Given the description of an element on the screen output the (x, y) to click on. 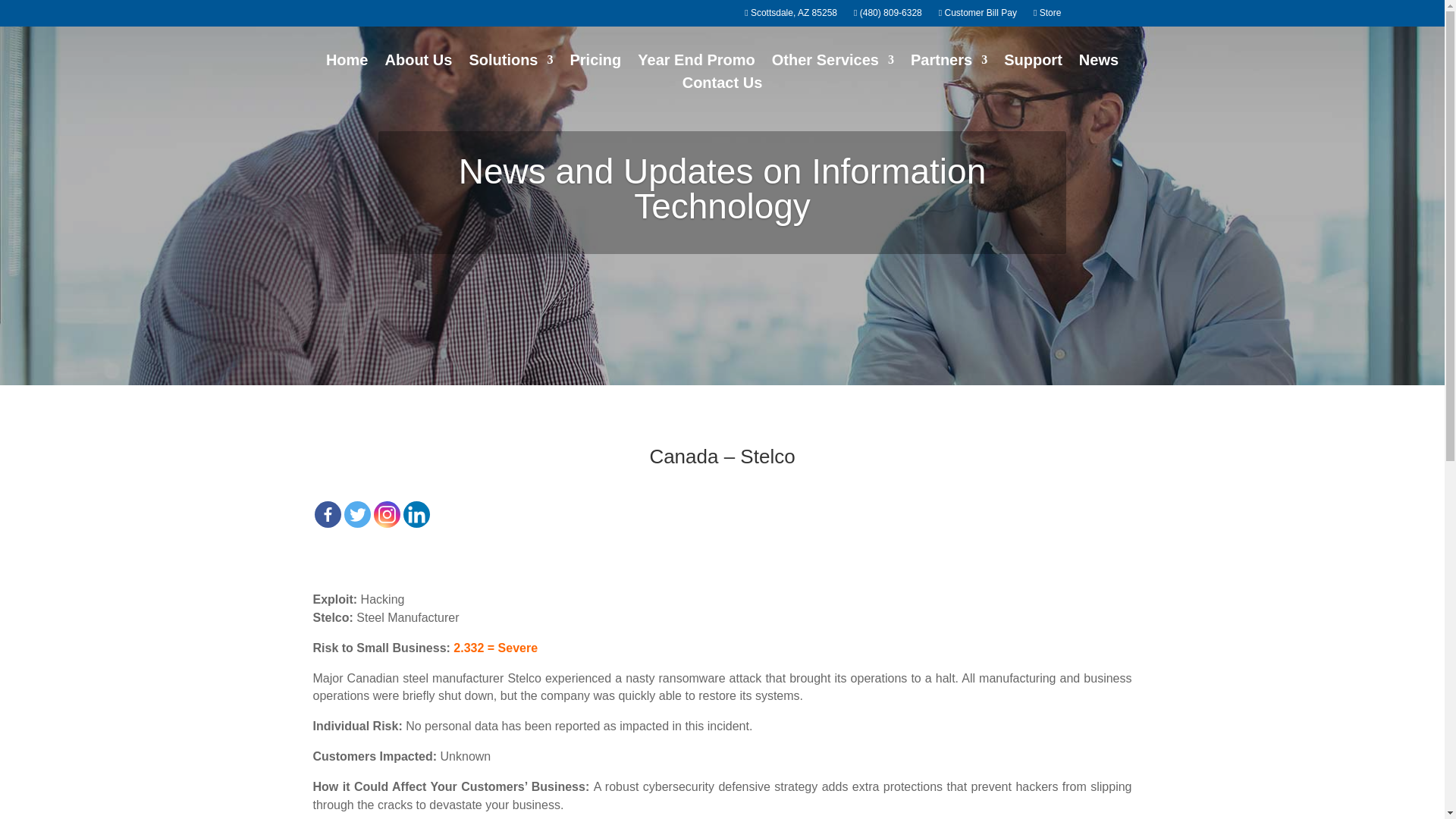
Year End Promo (696, 62)
Partners (949, 62)
Facebook (327, 514)
Linkedin (416, 514)
Store (1050, 15)
Contact Us (722, 85)
Scottsdale, AZ 85258 (790, 15)
Other Services (832, 62)
Support (1033, 62)
News (1098, 62)
Pricing (595, 62)
Solutions (510, 62)
About Us (418, 62)
Twitter (357, 514)
Instagram (385, 514)
